Given the description of an element on the screen output the (x, y) to click on. 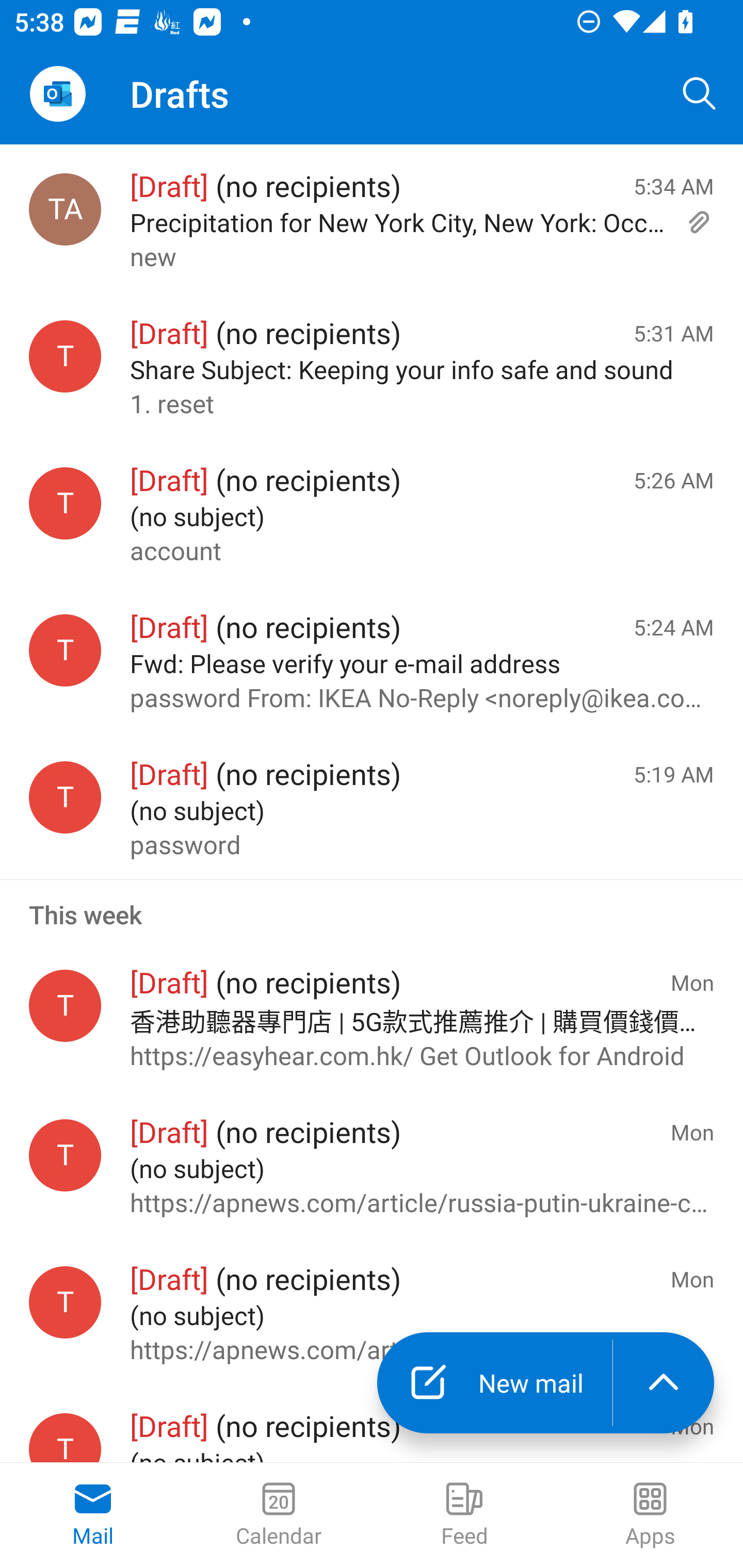
Search, ,  (699, 93)
Open Navigation Drawer (57, 94)
Test Appium, testappium002@outlook.com (64, 210)
testappium002@outlook.com (64, 355)
testappium002@outlook.com (64, 503)
testappium002@outlook.com (64, 650)
testappium002@outlook.com (64, 798)
testappium002@outlook.com (64, 1005)
testappium002@outlook.com (64, 1155)
testappium002@outlook.com (64, 1302)
New mail (494, 1382)
launch the extended action menu (663, 1382)
testappium002@outlook.com (64, 1437)
Calendar (278, 1515)
Feed (464, 1515)
Apps (650, 1515)
